Given the description of an element on the screen output the (x, y) to click on. 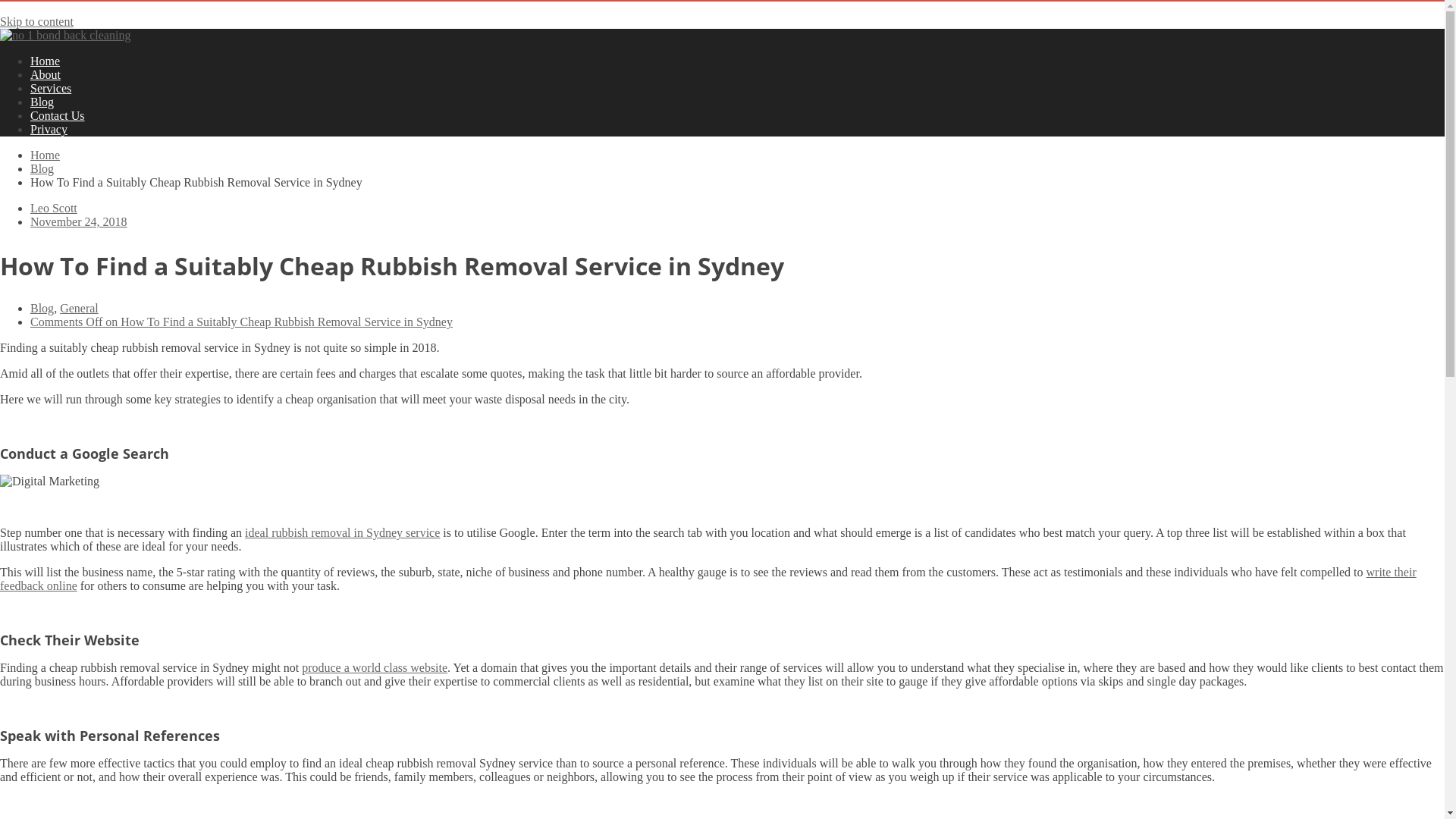
Skip to content Element type: text (36, 21)
write their feedback online Element type: text (708, 578)
Services Element type: text (50, 87)
Blog Element type: text (41, 168)
Home Element type: text (44, 60)
General Element type: text (78, 307)
Home Element type: text (44, 154)
Blog Element type: text (41, 101)
Blog Element type: text (41, 307)
Leo Scott Element type: text (53, 207)
Contact Us Element type: text (57, 115)
About Element type: text (45, 74)
produce a world class website Element type: text (374, 667)
Privacy Element type: text (48, 128)
November 24, 2018 Element type: text (78, 221)
ideal rubbish removal in Sydney service Element type: text (341, 532)
